Given the description of an element on the screen output the (x, y) to click on. 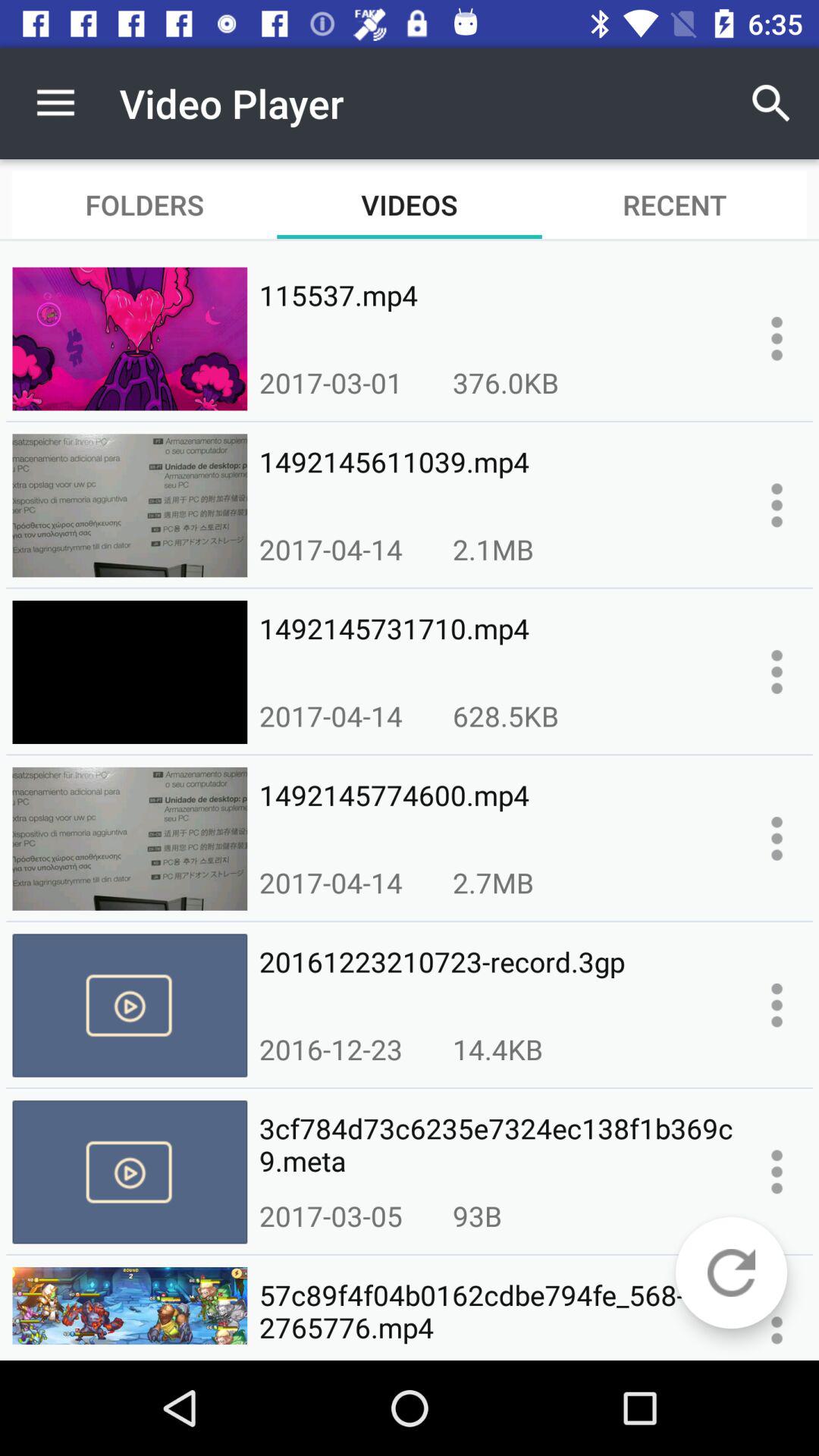
displays more options (776, 338)
